Given the description of an element on the screen output the (x, y) to click on. 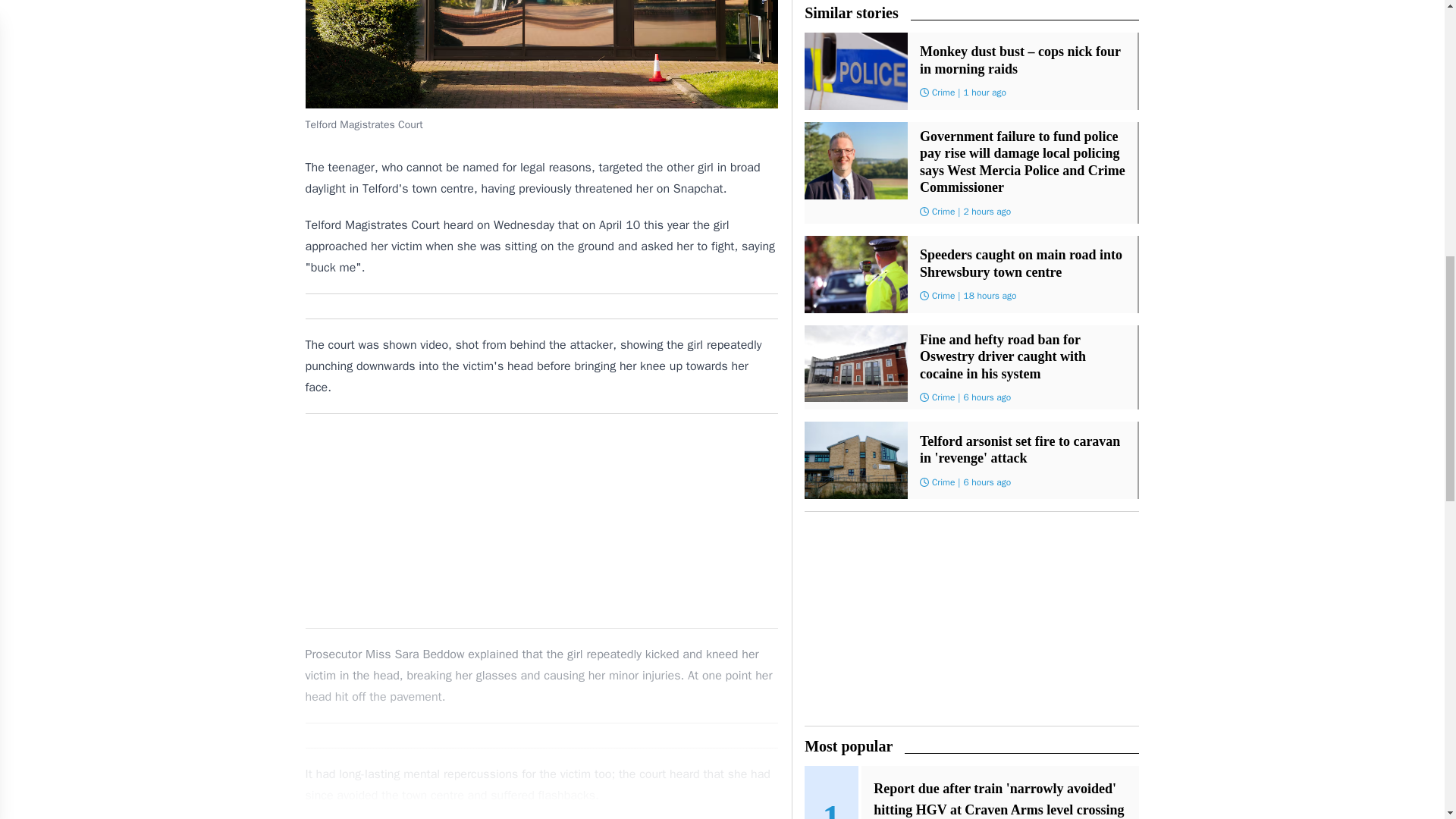
Shrewsbury (953, 633)
Crime (943, 130)
Crime (943, 390)
Crime (943, 251)
Shrewsbury (953, 512)
